Given the description of an element on the screen output the (x, y) to click on. 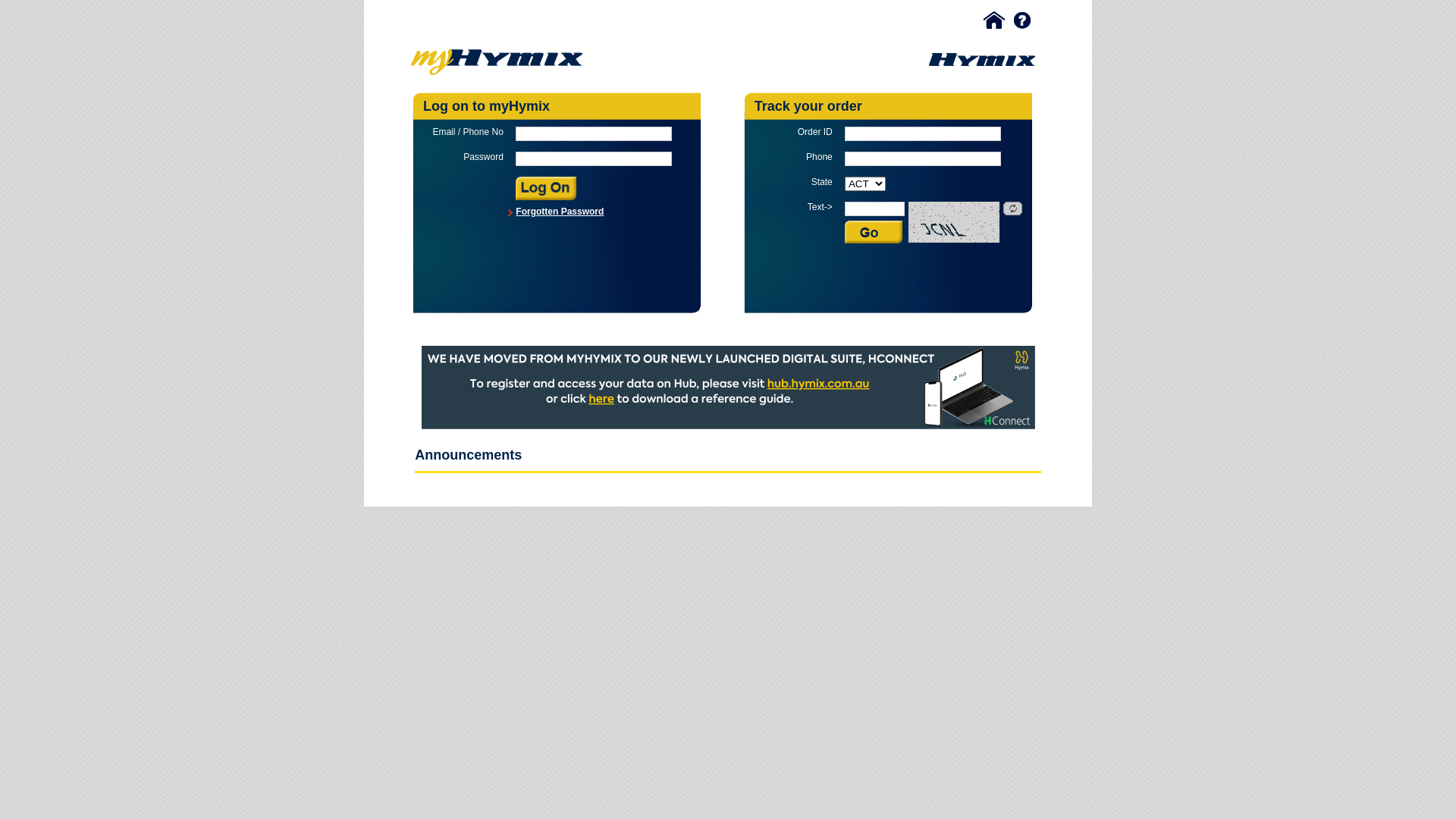
Forgotten Password Element type: text (559, 211)
refresh captcha Element type: hover (1012, 208)
Announcements Element type: text (467, 454)
